Given the description of an element on the screen output the (x, y) to click on. 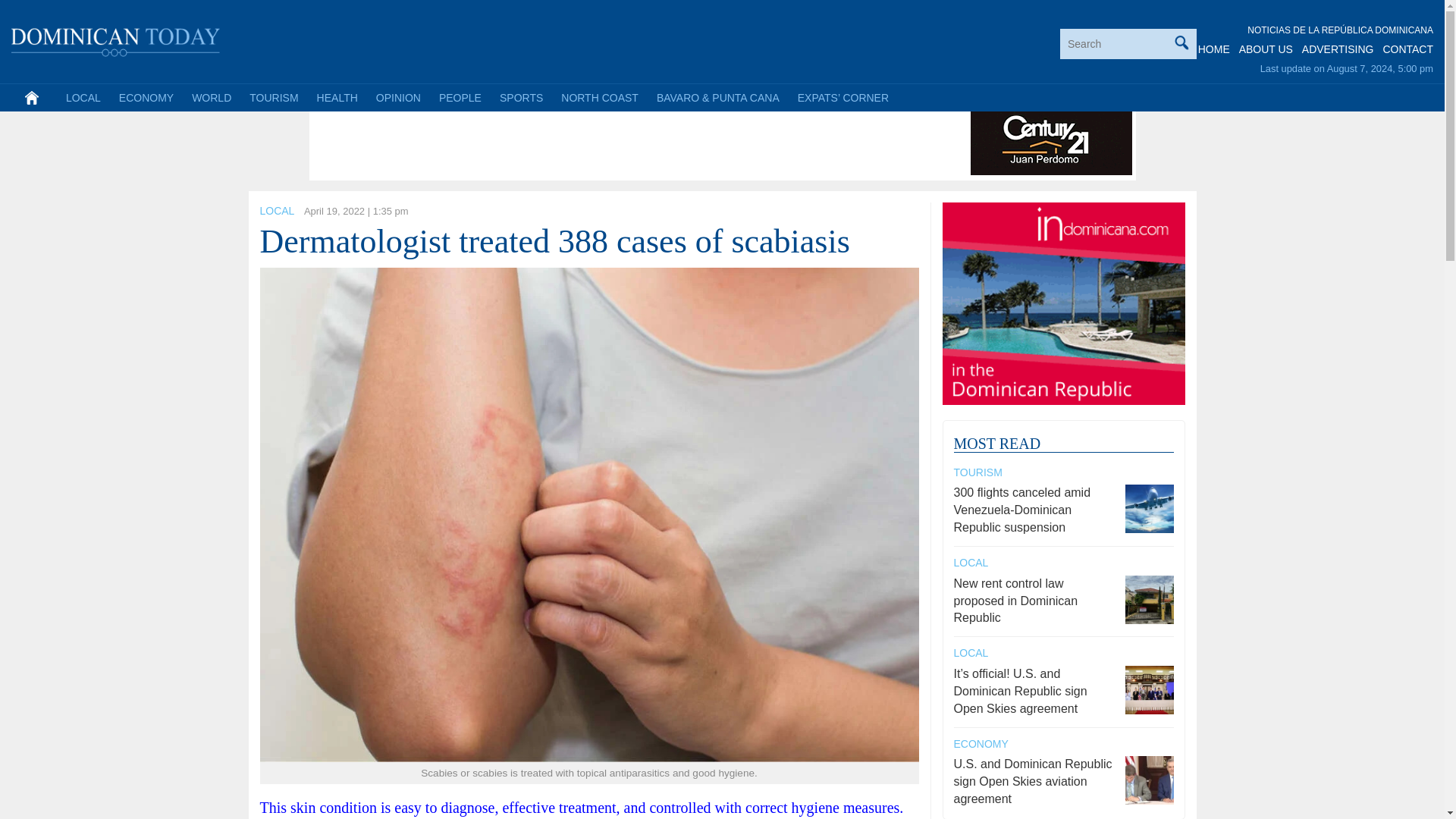
WORLD (211, 97)
HEALTH (336, 97)
LOCAL (83, 97)
CONTACT (1406, 49)
LOCAL (276, 210)
Dominican Today News - Santo Domingo and Dominican Republic (116, 38)
NORTH COAST (599, 97)
ECONOMY (146, 97)
OPINION (397, 97)
